Given the description of an element on the screen output the (x, y) to click on. 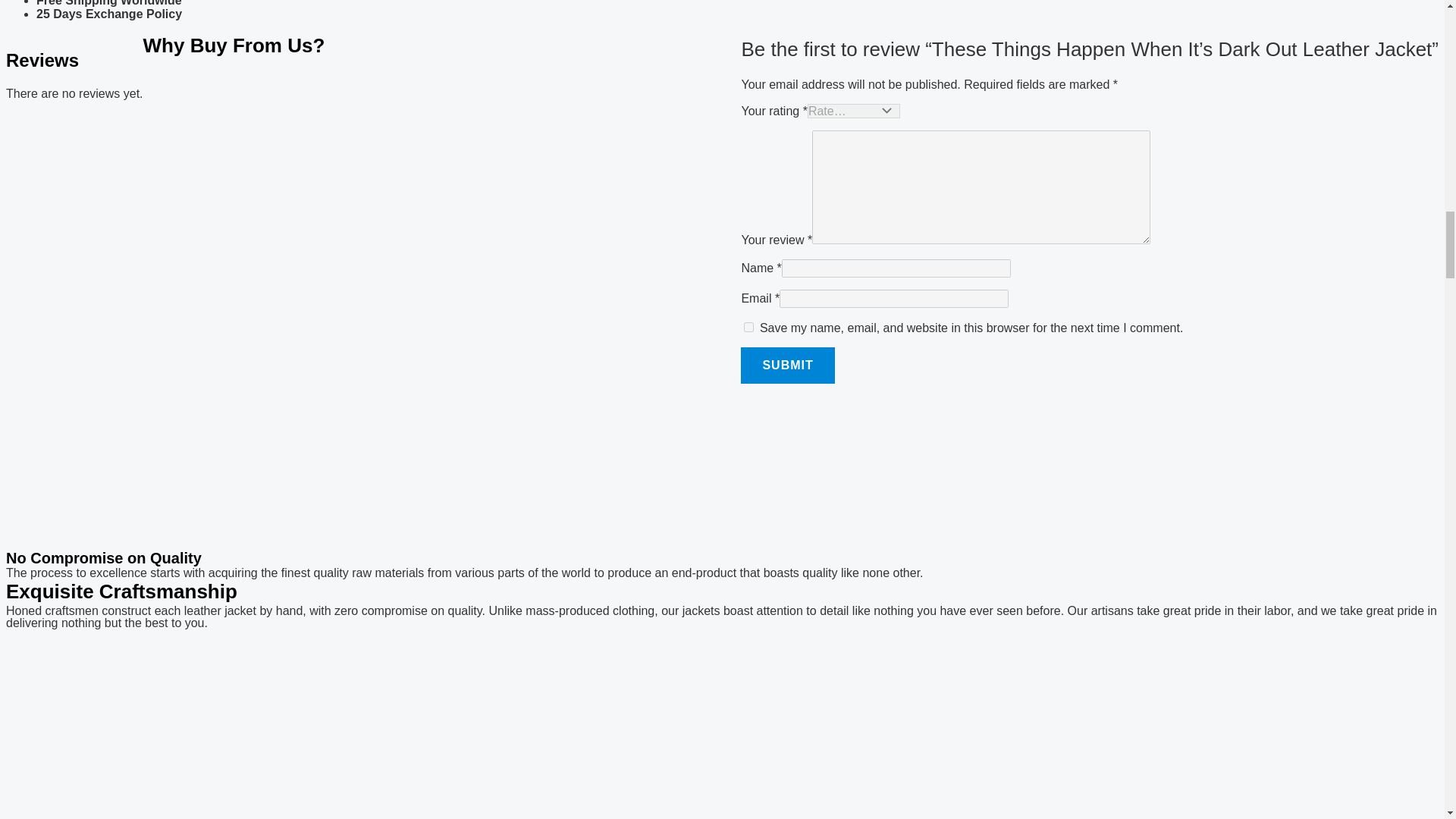
Submit (787, 365)
yes (749, 327)
Exquisite-Craftsmanship - Movies Leather Jacket (721, 724)
